Given the description of an element on the screen output the (x, y) to click on. 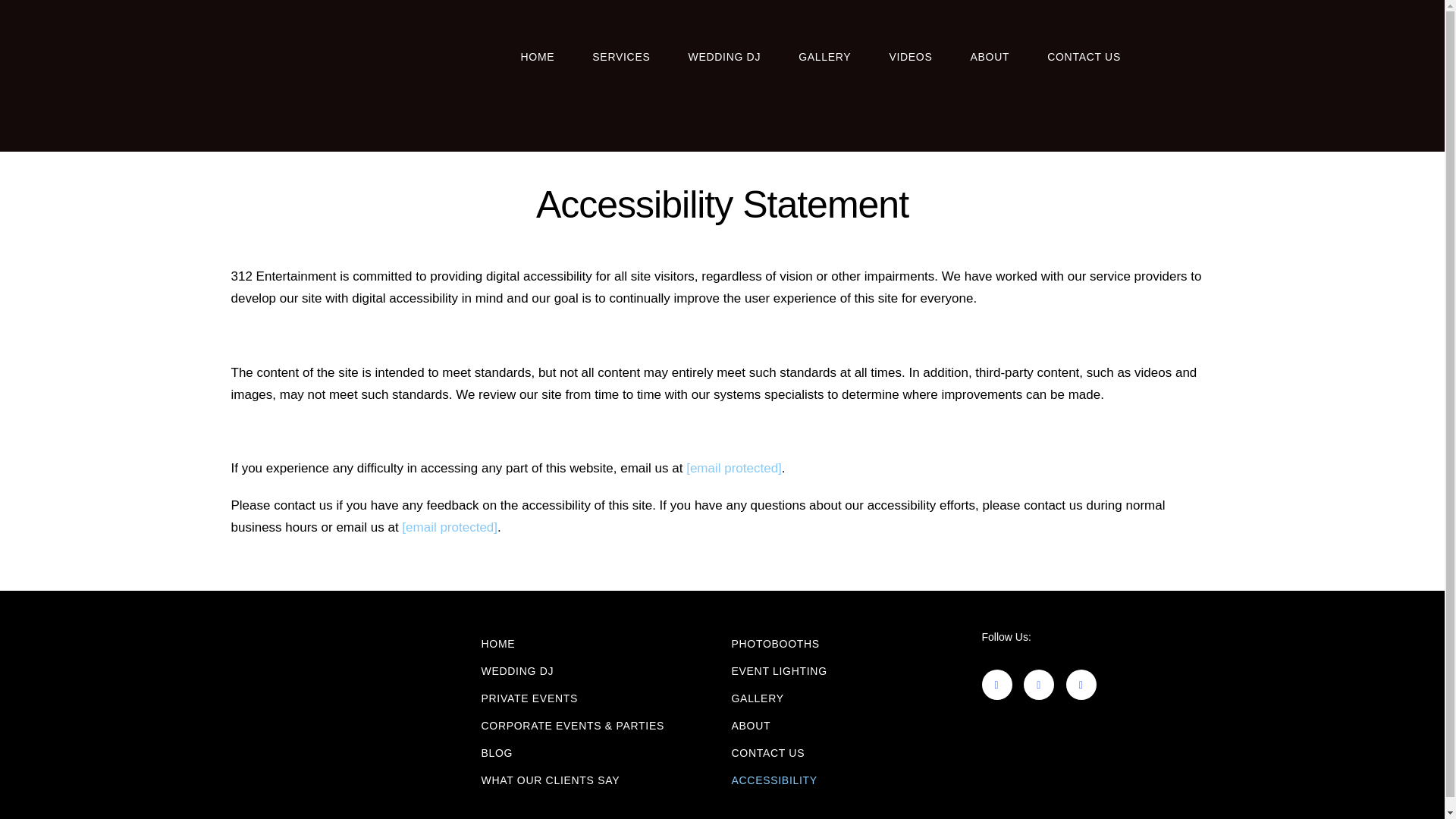
GALLERY (823, 56)
WEDDING DJ (723, 56)
HOME (536, 56)
VIDEOS (909, 56)
CONTACT US (1083, 56)
SERVICES (620, 56)
ABOUT (989, 56)
HOME (497, 644)
WEDDING DJ (516, 671)
